Given the description of an element on the screen output the (x, y) to click on. 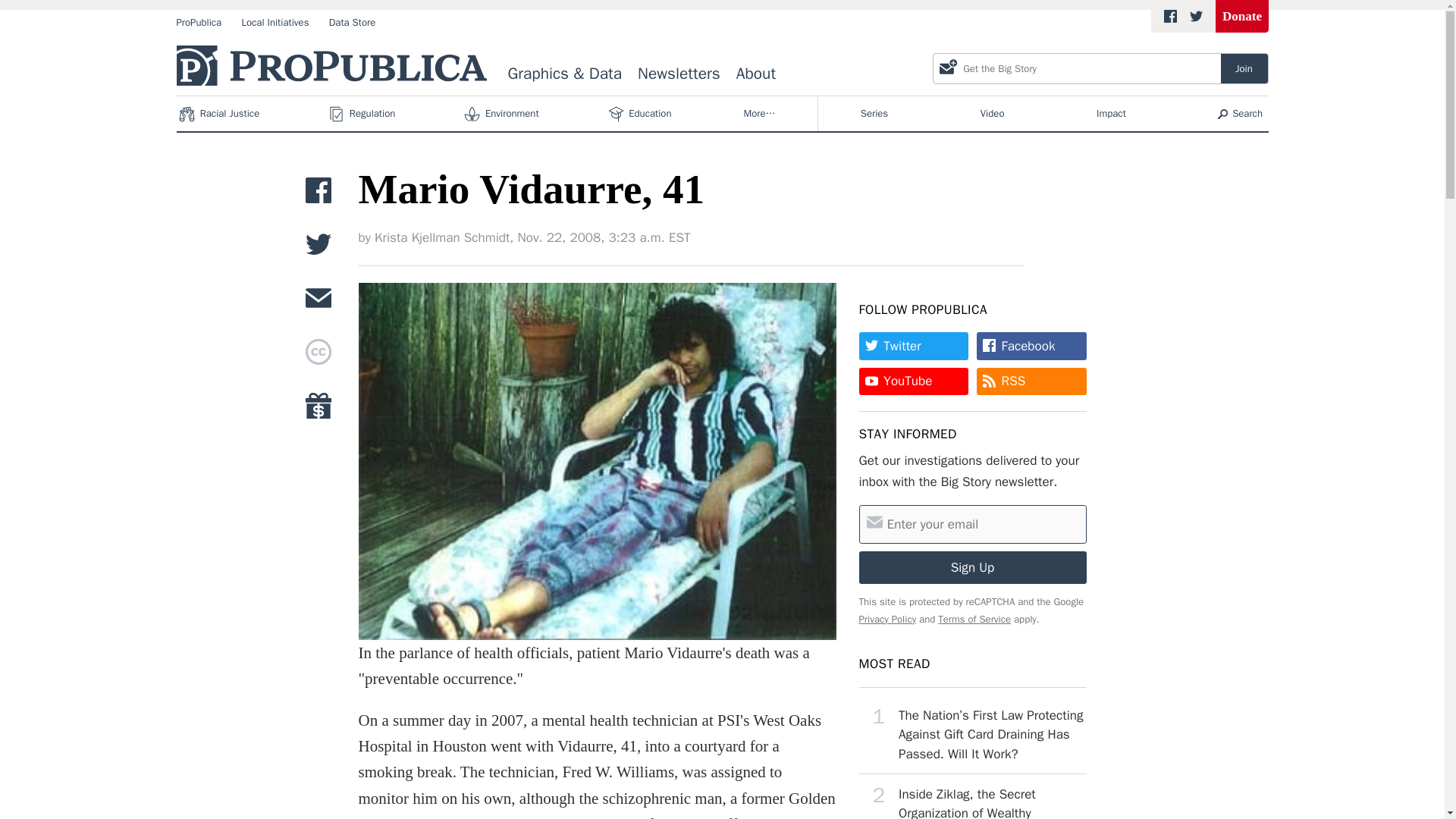
Education (641, 113)
View this (972, 734)
About (755, 74)
Sign Up (972, 567)
Environment (502, 113)
Video (992, 113)
Join (1244, 68)
RSS (1031, 380)
Racial Justice (220, 113)
Local Initiatives (274, 22)
